Given the description of an element on the screen output the (x, y) to click on. 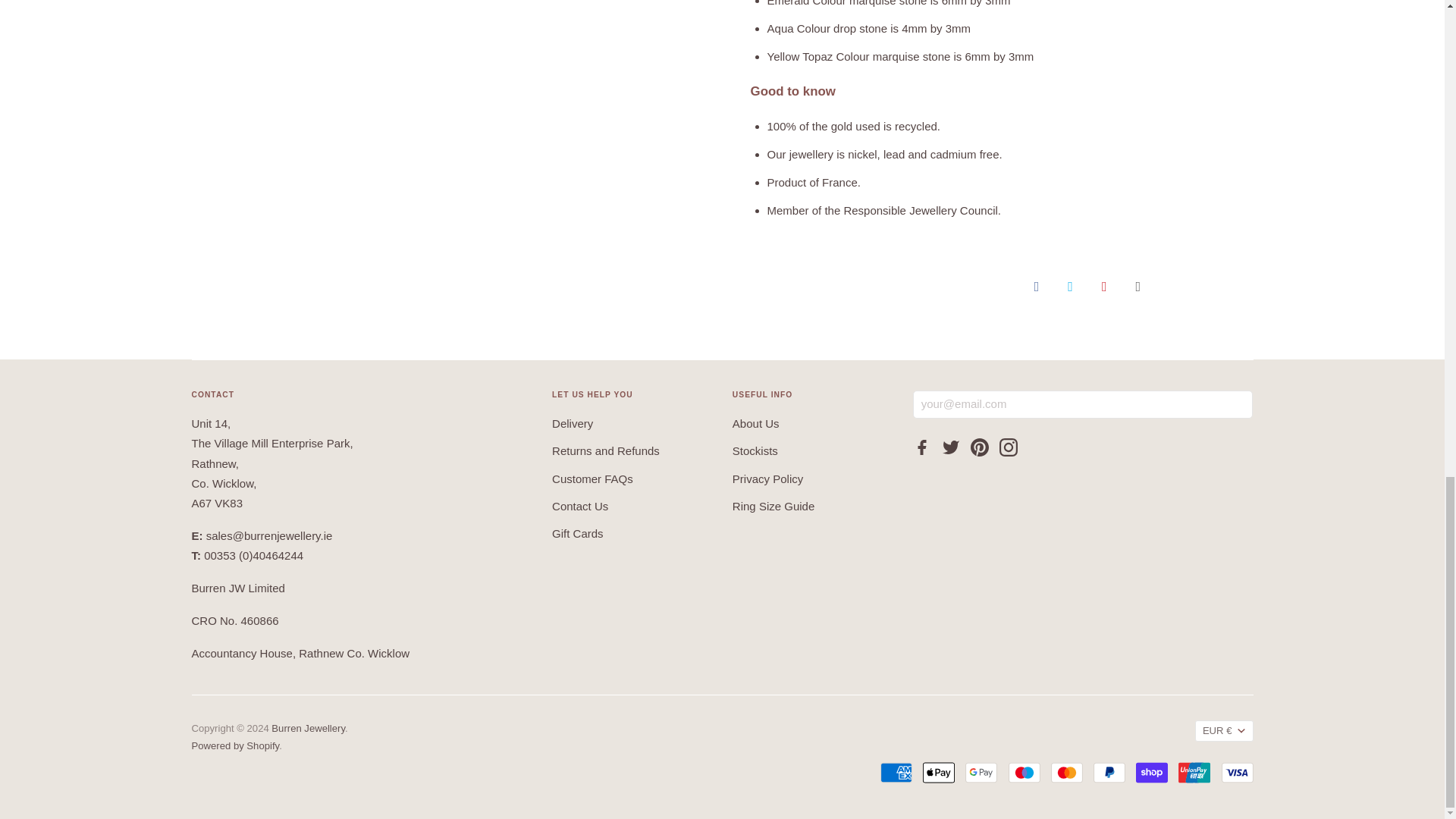
Visa (1236, 772)
Mastercard (1067, 772)
Union Pay (1193, 772)
PayPal (1109, 772)
American Express (896, 772)
Google Pay (981, 772)
Shop Pay (1151, 772)
Maestro (1025, 772)
Apple Pay (939, 772)
